Given the description of an element on the screen output the (x, y) to click on. 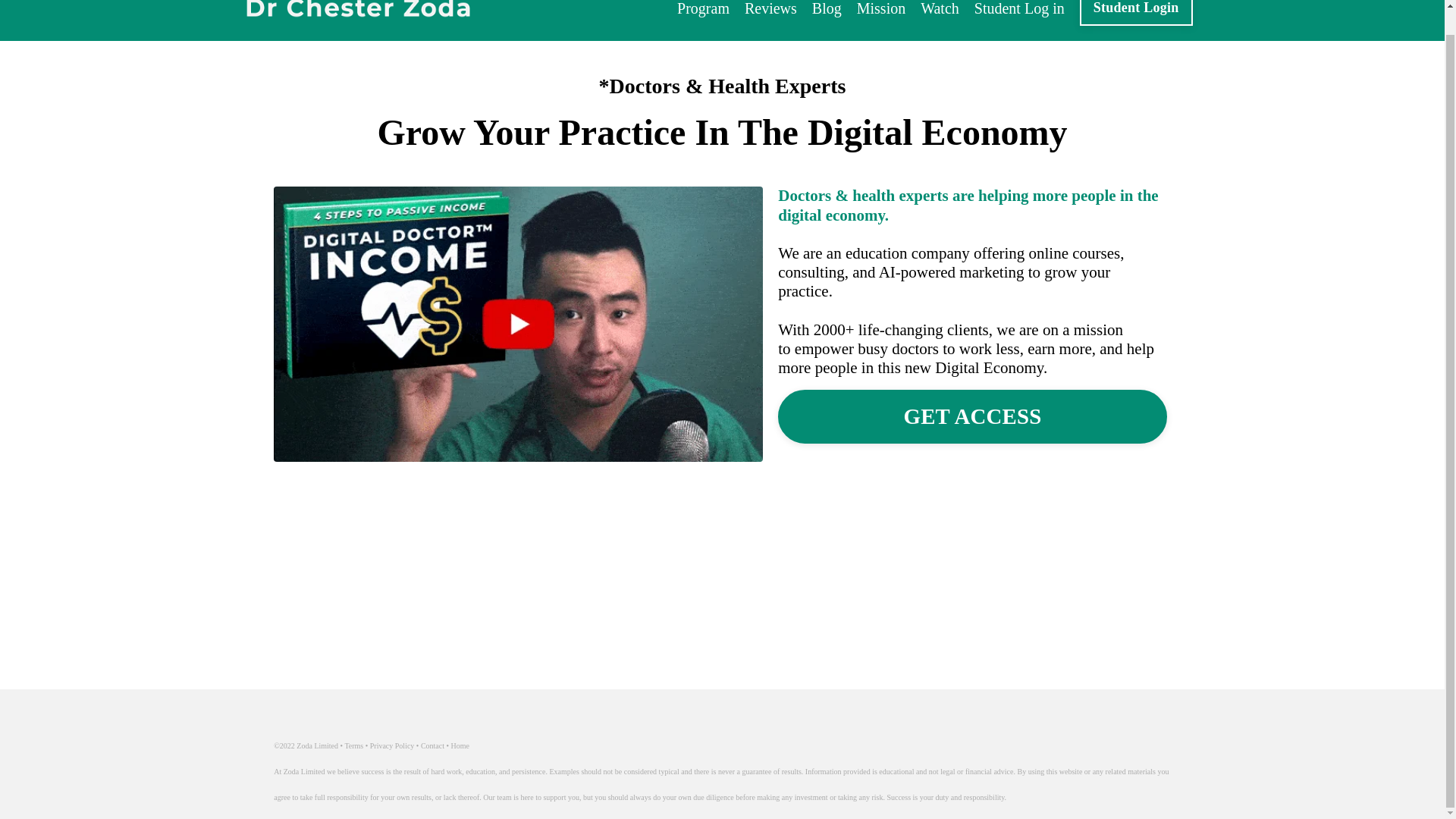
Watch (939, 9)
Home (458, 746)
Blog (826, 9)
Privacy Policy (391, 746)
Program (703, 9)
Contact (432, 746)
Student Log in (1019, 9)
Student Login (1136, 12)
Reviews (770, 9)
GET ACCESS (972, 416)
Terms (352, 746)
Mission (881, 9)
